Given the description of an element on the screen output the (x, y) to click on. 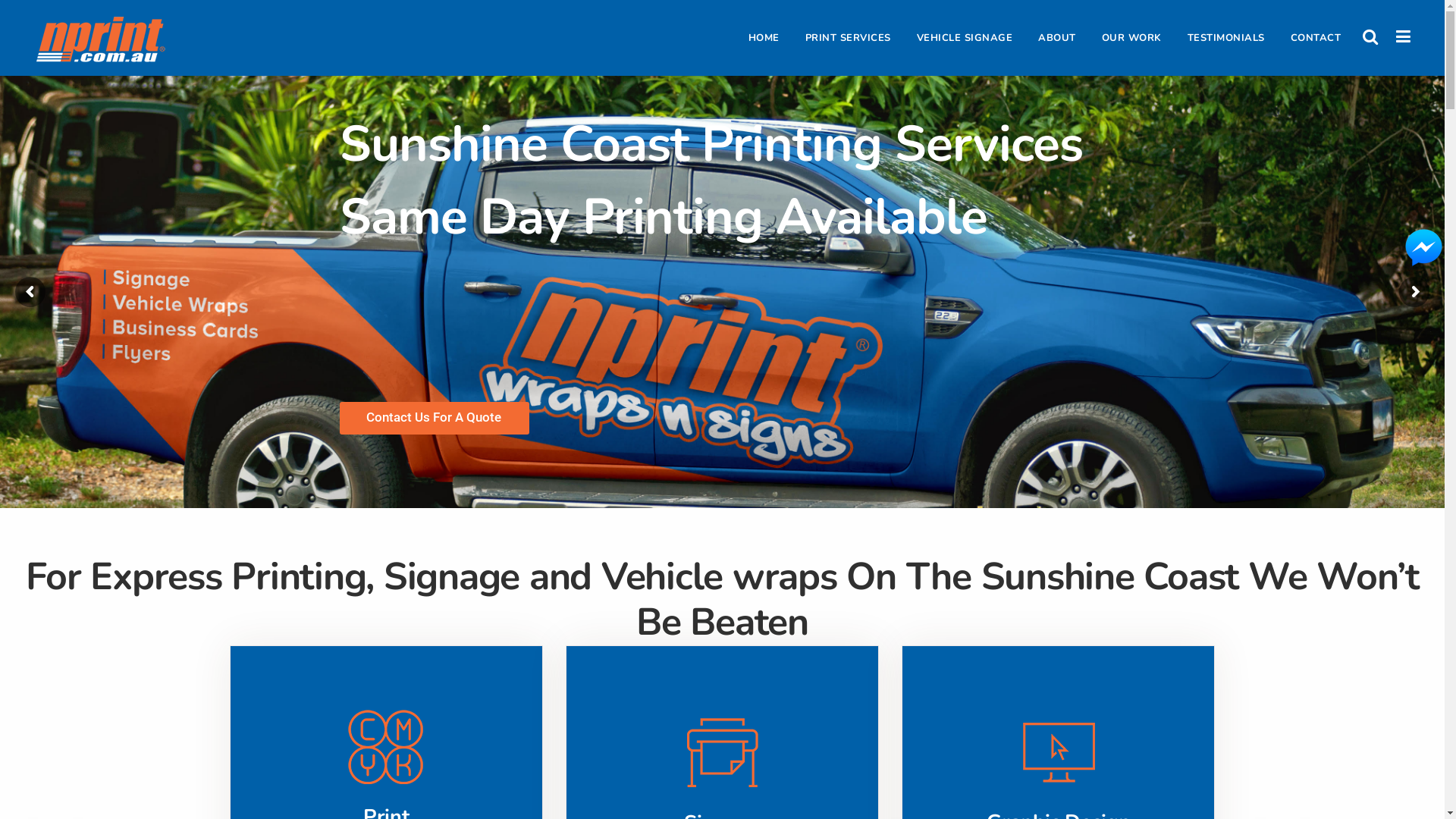
ABOUT Element type: text (1056, 37)
PRINT SERVICES Element type: text (847, 37)
CONTACT Element type: text (1315, 37)
HOME Element type: text (763, 37)
VEHICLE SIGNAGE Element type: text (964, 37)
OUR WORK Element type: text (1131, 37)
TESTIMONIALS Element type: text (1225, 37)
